Given the description of an element on the screen output the (x, y) to click on. 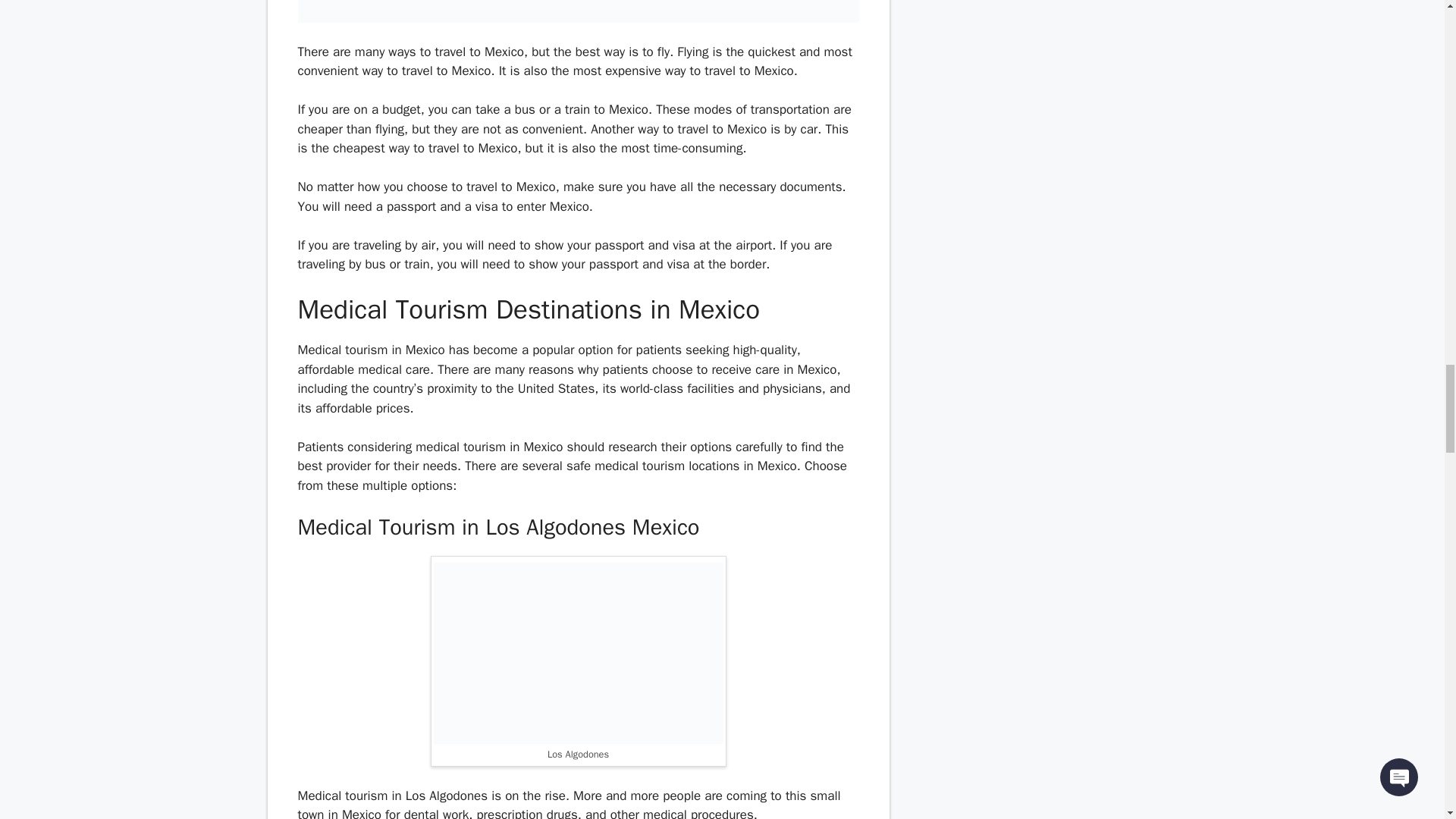
Los Algodones (578, 652)
Traveling to Mexico (578, 11)
